Given the description of an element on the screen output the (x, y) to click on. 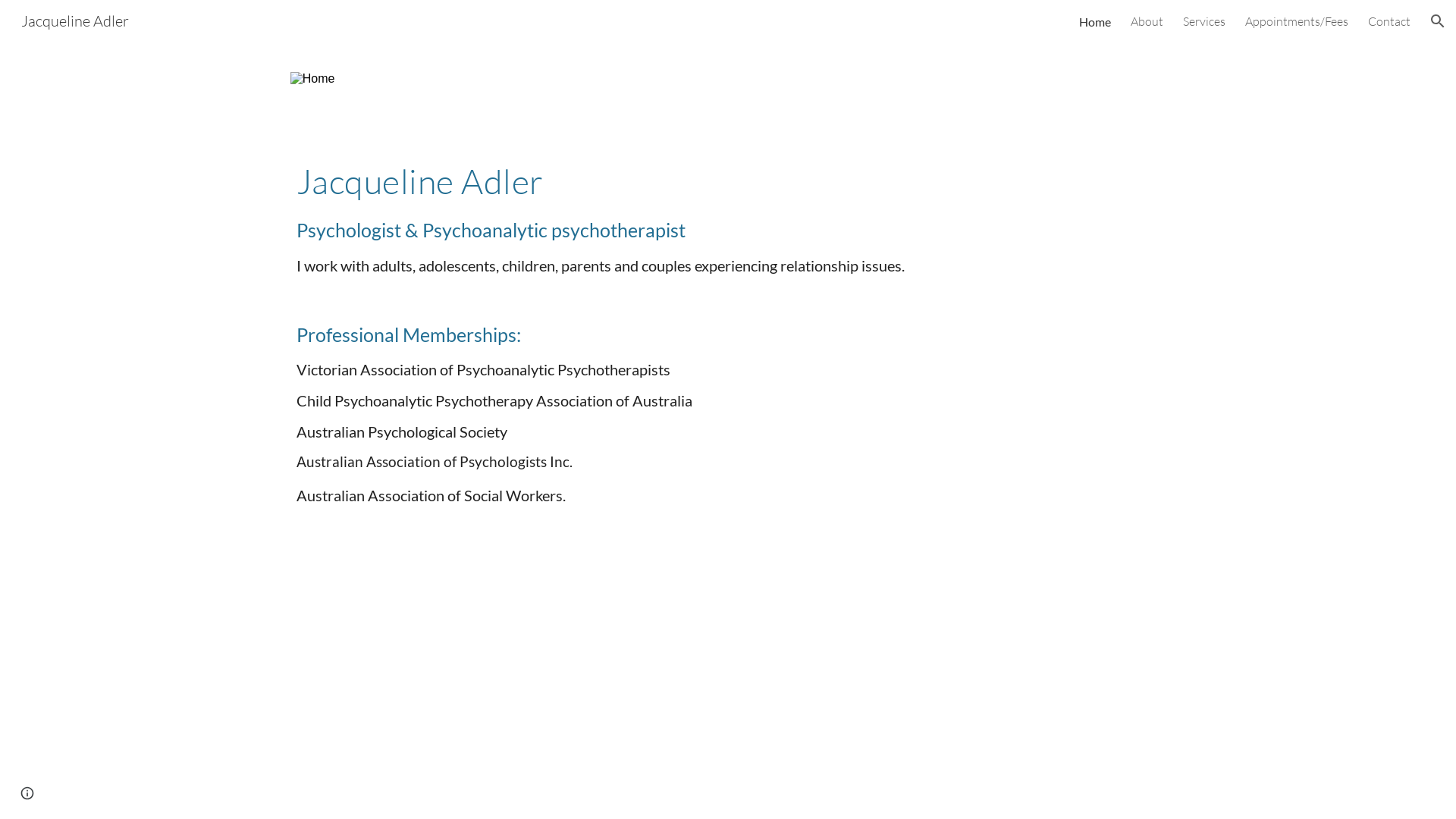
Contact Element type: text (1389, 20)
Services Element type: text (1204, 20)
Appointments/Fees Element type: text (1296, 20)
Home Element type: text (1094, 20)
About Element type: text (1146, 20)
Jacqueline Adler Element type: text (75, 18)
